Given the description of an element on the screen output the (x, y) to click on. 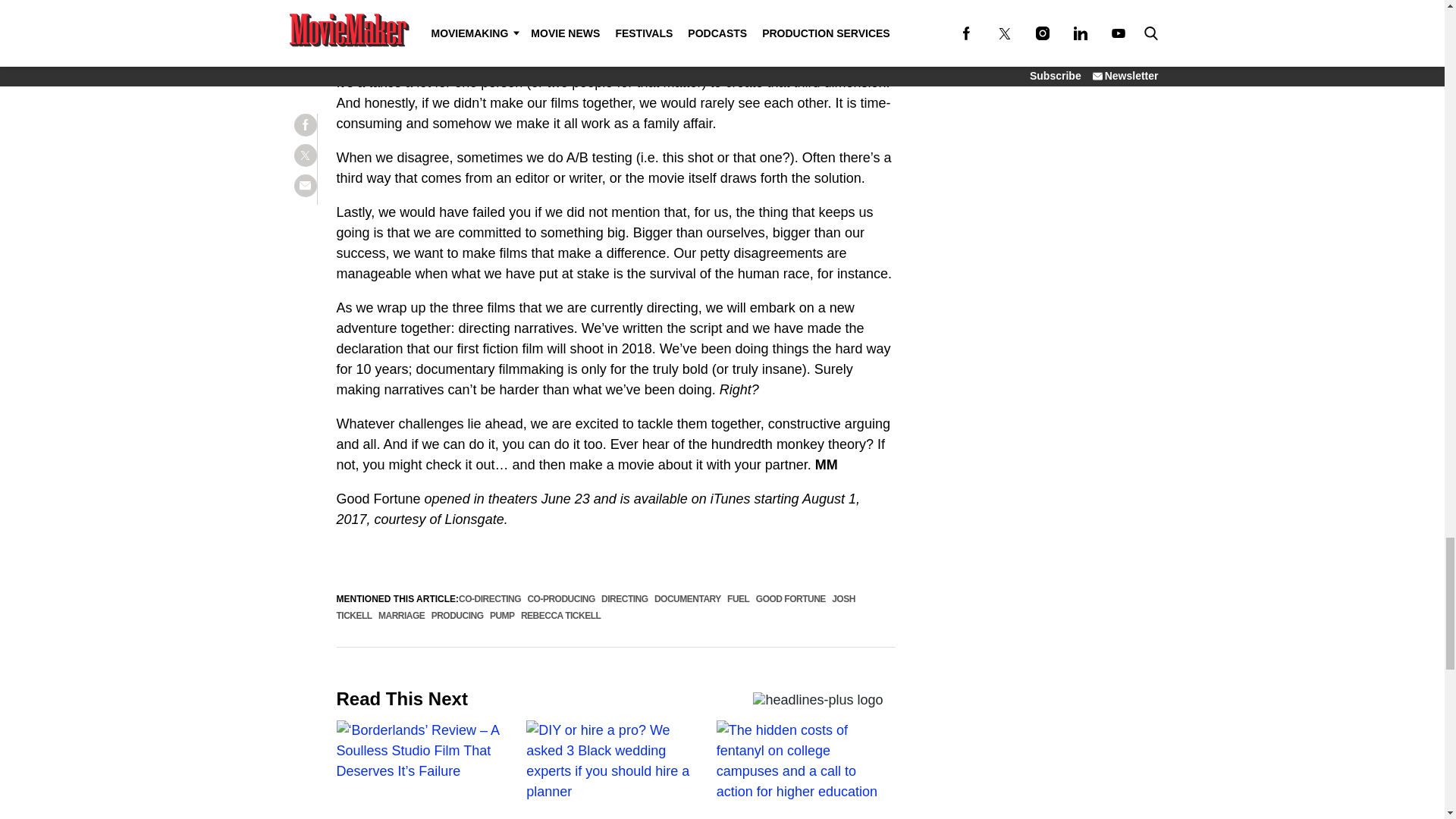
CO-PRODUCING (560, 598)
DIRECTING (624, 598)
JOSH TICKELL (596, 606)
FUEL (737, 598)
DOCUMENTARY (686, 598)
GOOD FORTUNE (790, 598)
CO-DIRECTING (489, 598)
